Given the description of an element on the screen output the (x, y) to click on. 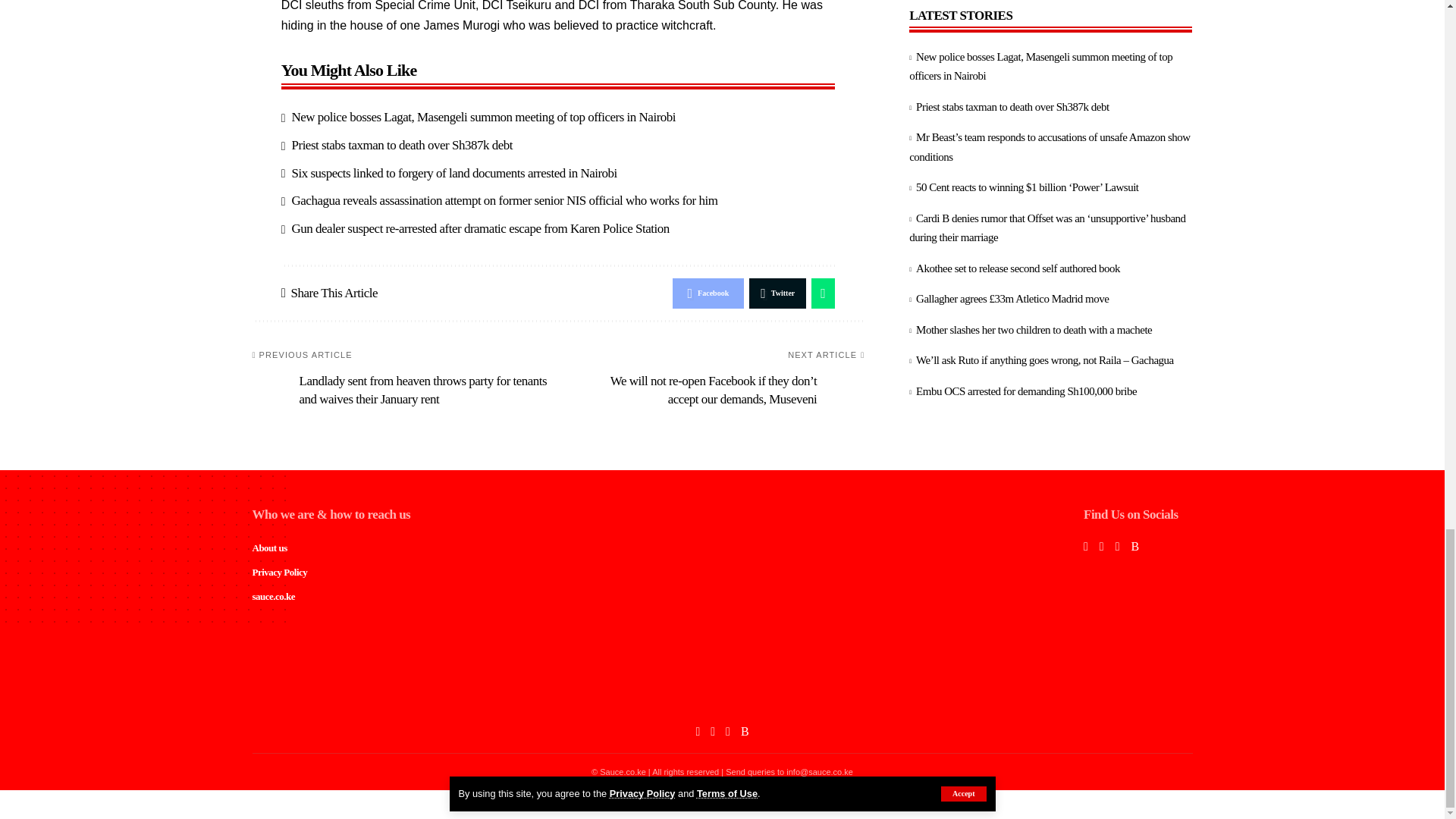
sauce.co.ke (721, 694)
